Given the description of an element on the screen output the (x, y) to click on. 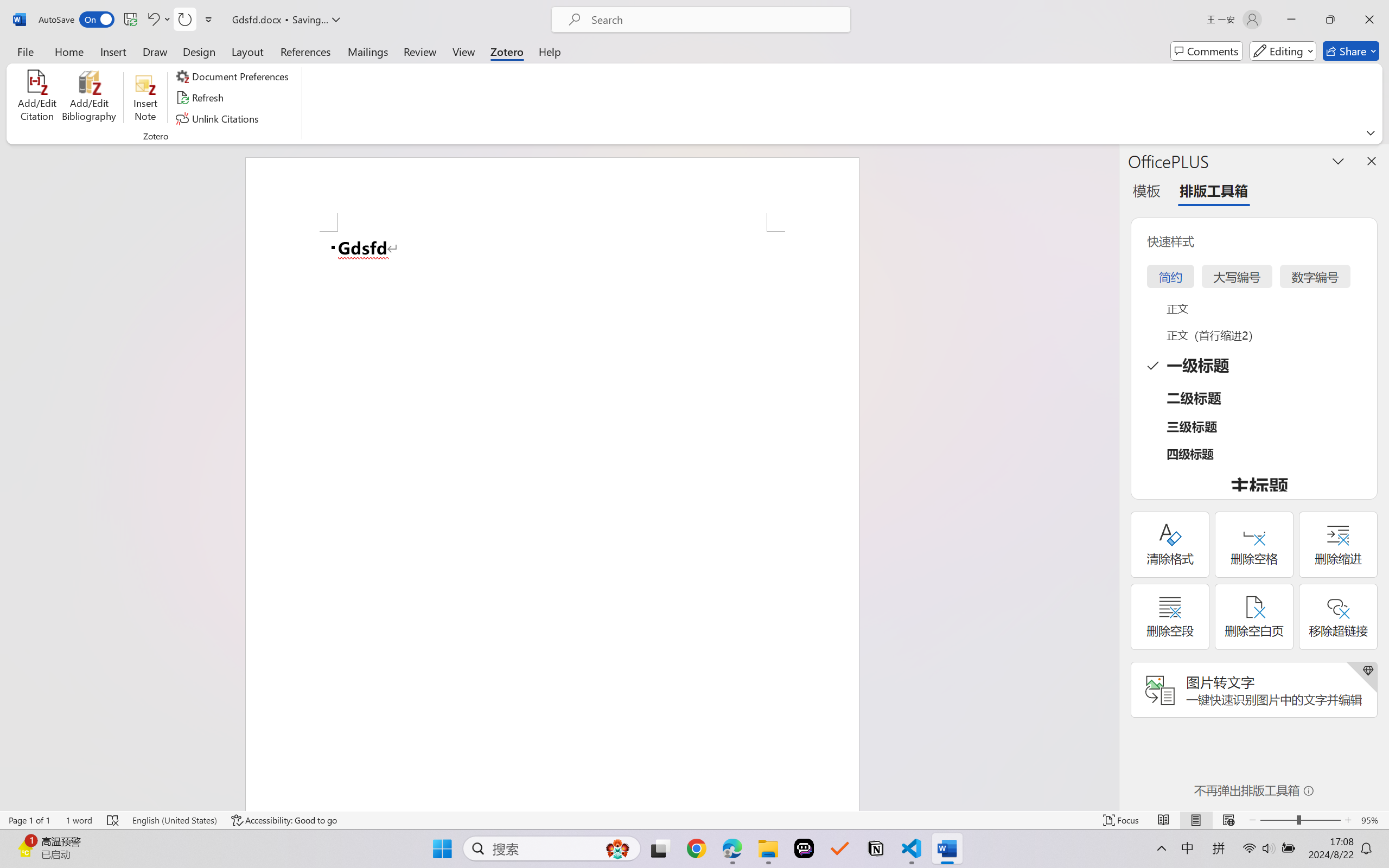
Task Pane Options (1338, 161)
Unlink Citations (218, 118)
